Given the description of an element on the screen output the (x, y) to click on. 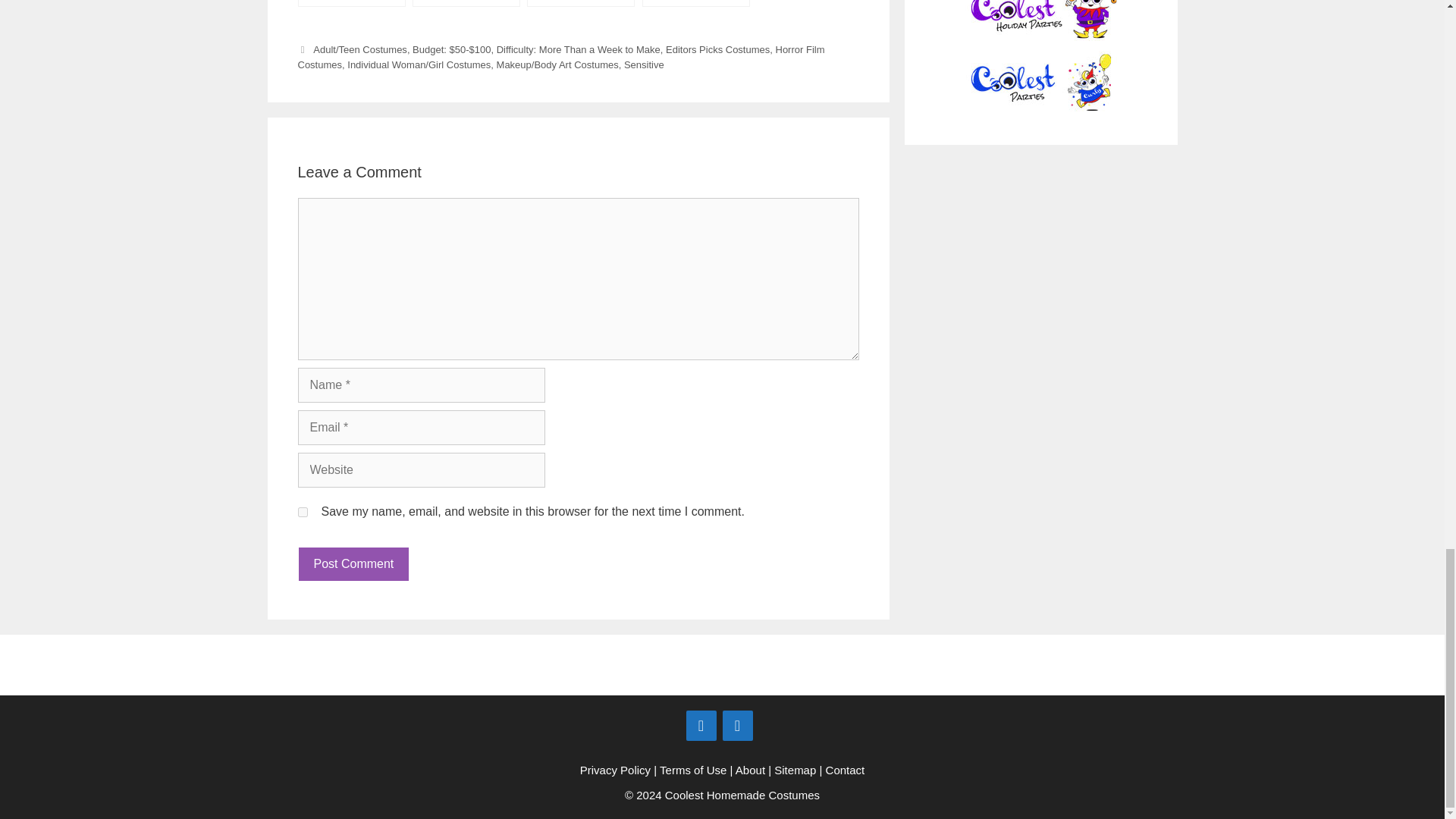
Instagram (737, 725)
Scary Silent Hill Nurse Costume (465, 3)
yes (302, 511)
Creepy Homemade Silent Hill Couple Halloween Costume (580, 3)
Homemade Silent Hill Couple Costume (695, 3)
Post Comment (353, 564)
Facebook (700, 725)
